Given the description of an element on the screen output the (x, y) to click on. 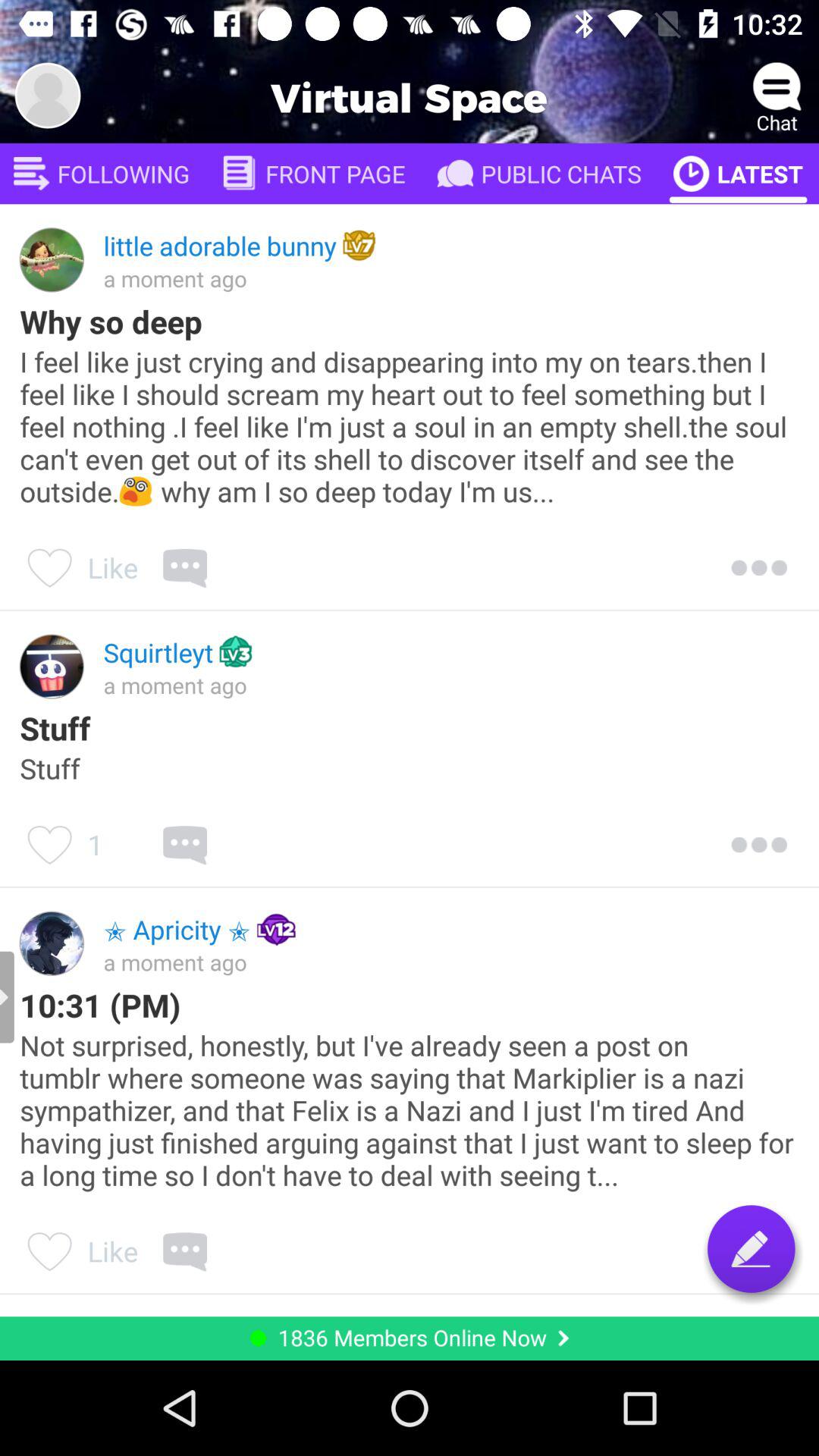
edit option (751, 1248)
